Given the description of an element on the screen output the (x, y) to click on. 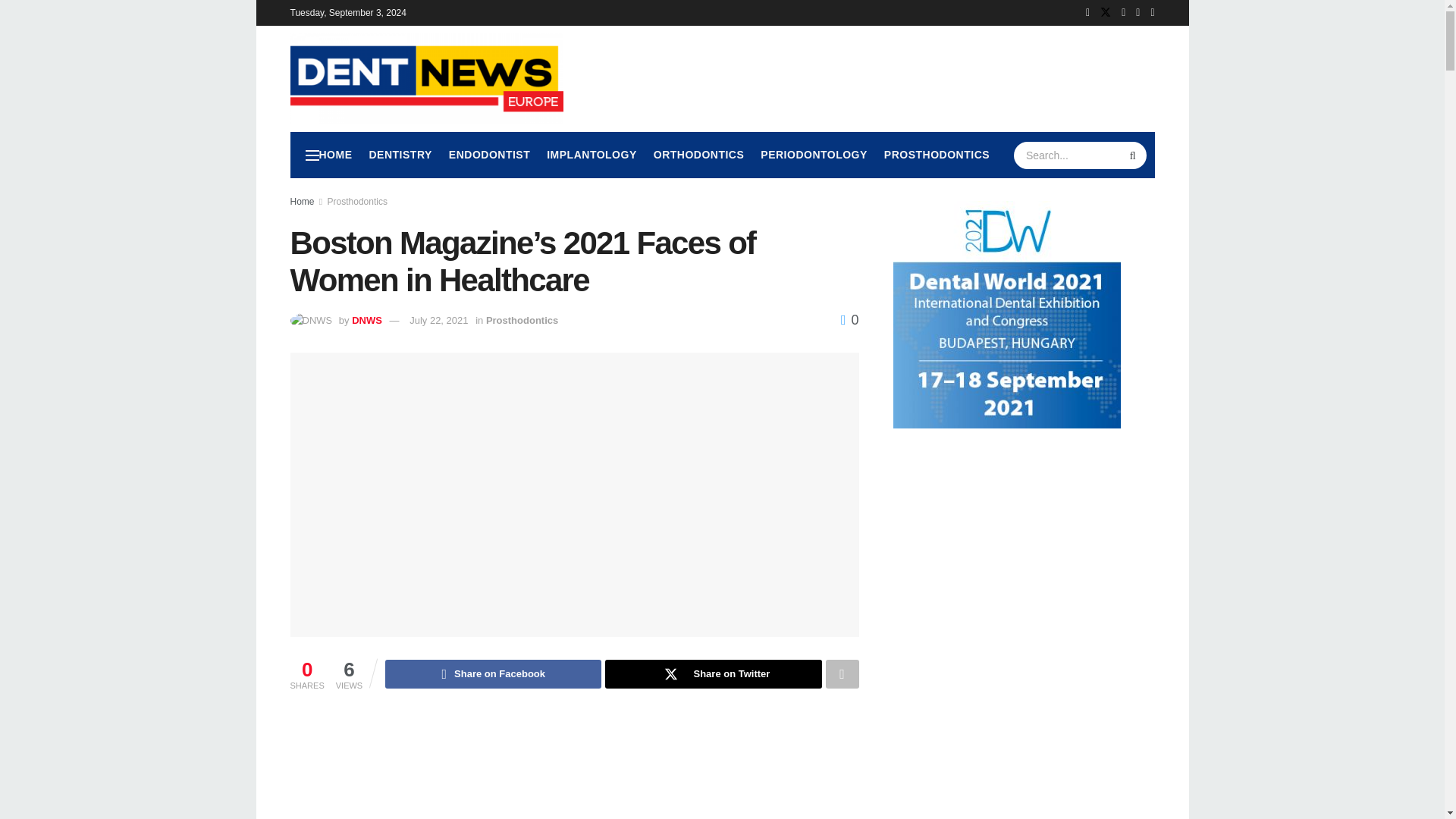
Share on Twitter (713, 674)
Share on Facebook (493, 674)
PROSTHODONTICS (936, 154)
Prosthodontics (357, 201)
Prosthodontics (521, 319)
July 22, 2021 (438, 319)
Home (301, 201)
DNWS (366, 319)
PERIODONTOLOGY (813, 154)
ENDODONTIST (488, 154)
